Given the description of an element on the screen output the (x, y) to click on. 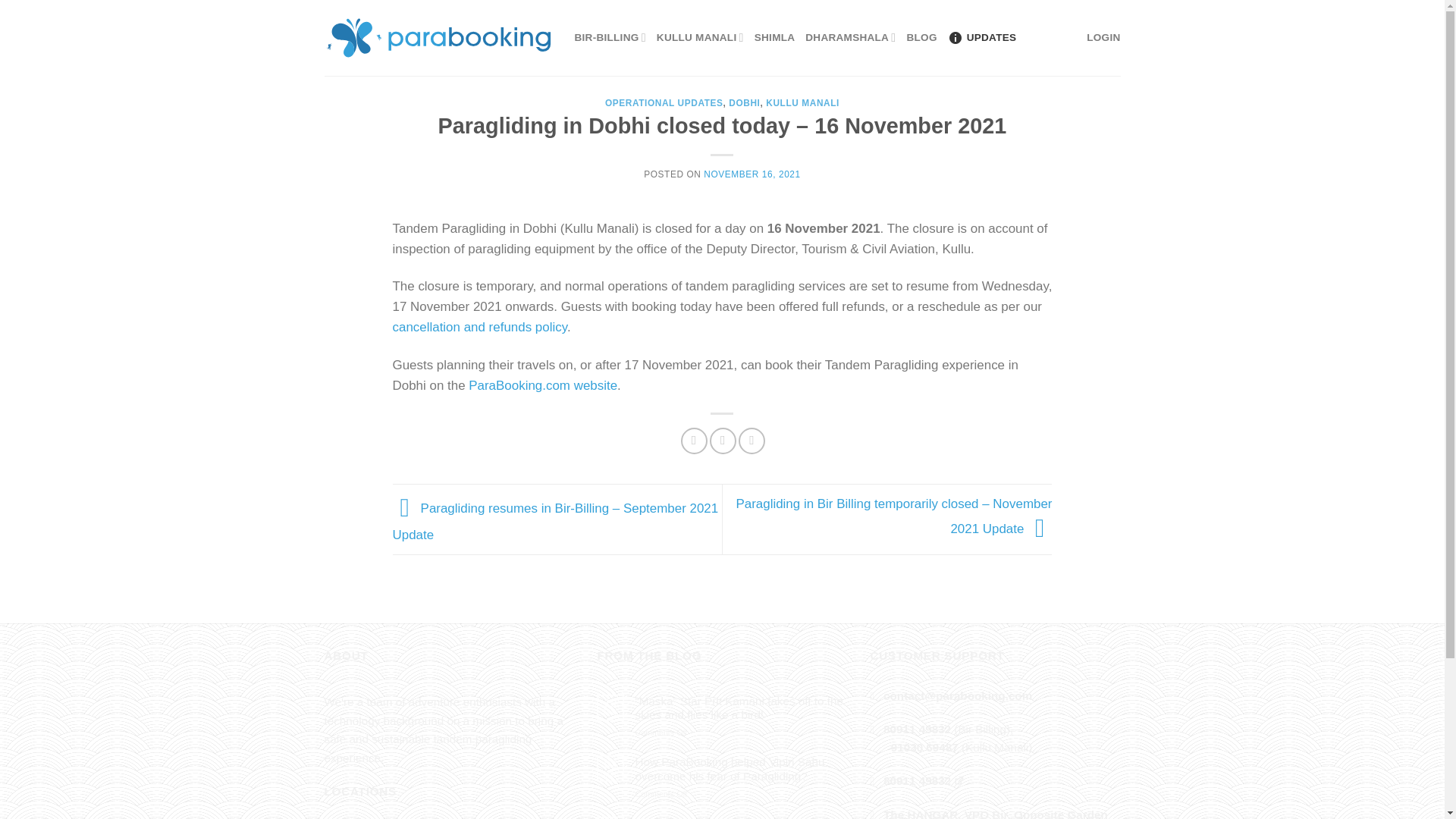
Share on Twitter (723, 440)
NOVEMBER 16, 2021 (751, 173)
Login (1102, 37)
ParaBooking.com website (542, 385)
ParaBooking - The Sky Awaits (437, 37)
email (957, 694)
cancellation and refunds policy (480, 327)
BIR-BILLING (610, 37)
DHARAMSHALA (850, 37)
phone (924, 747)
Email to a Friend (751, 440)
Share on Facebook (694, 440)
SHIMLA (774, 37)
UPDATES (981, 37)
